Given the description of an element on the screen output the (x, y) to click on. 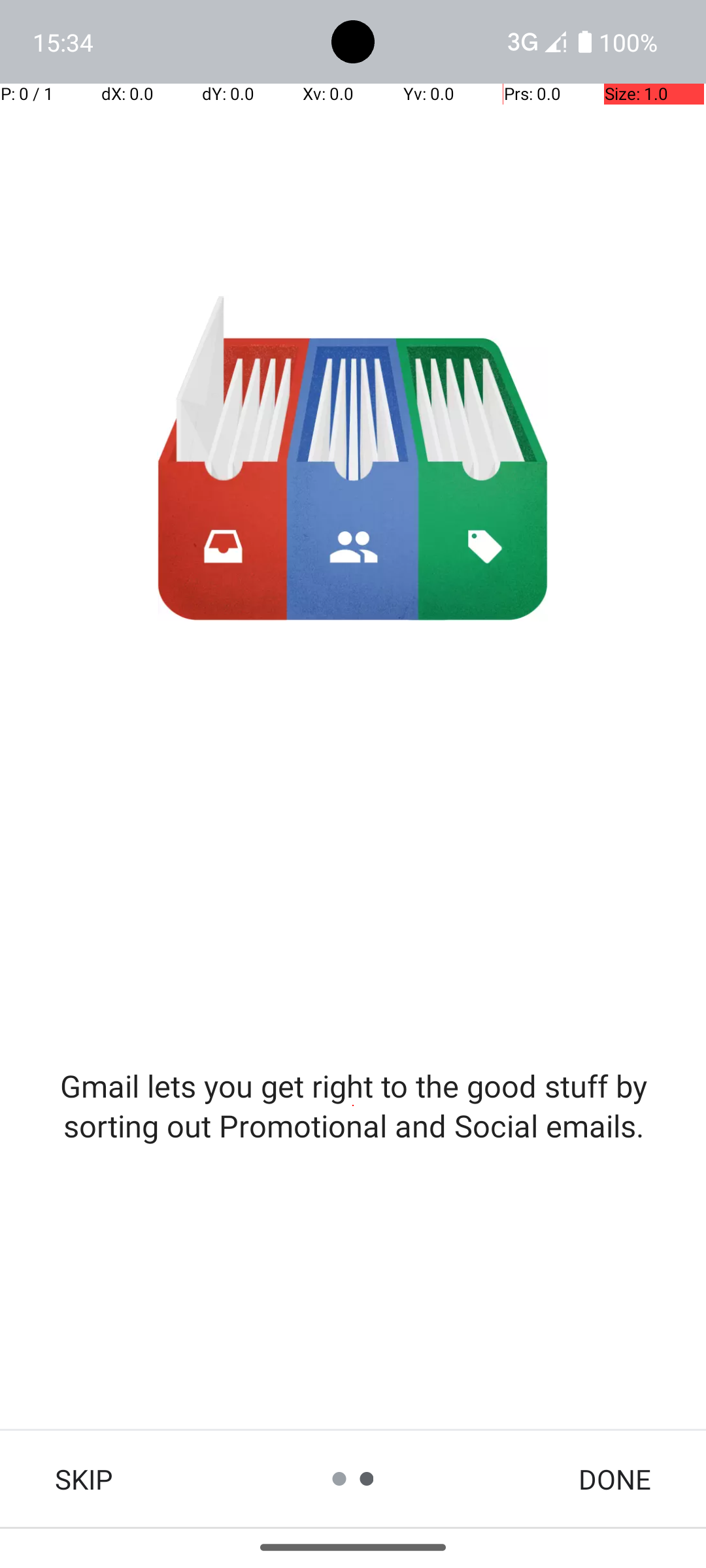
SKIP Element type: android.widget.TextView (83, 1478)
DONE Element type: android.widget.TextView (614, 1478)
Gmail Element type: android.widget.ImageView (352, 458)
Gmail lets you get right to the good stuff by sorting out Promotional and Social emails. Element type: android.widget.TextView (352, 1105)
